Given the description of an element on the screen output the (x, y) to click on. 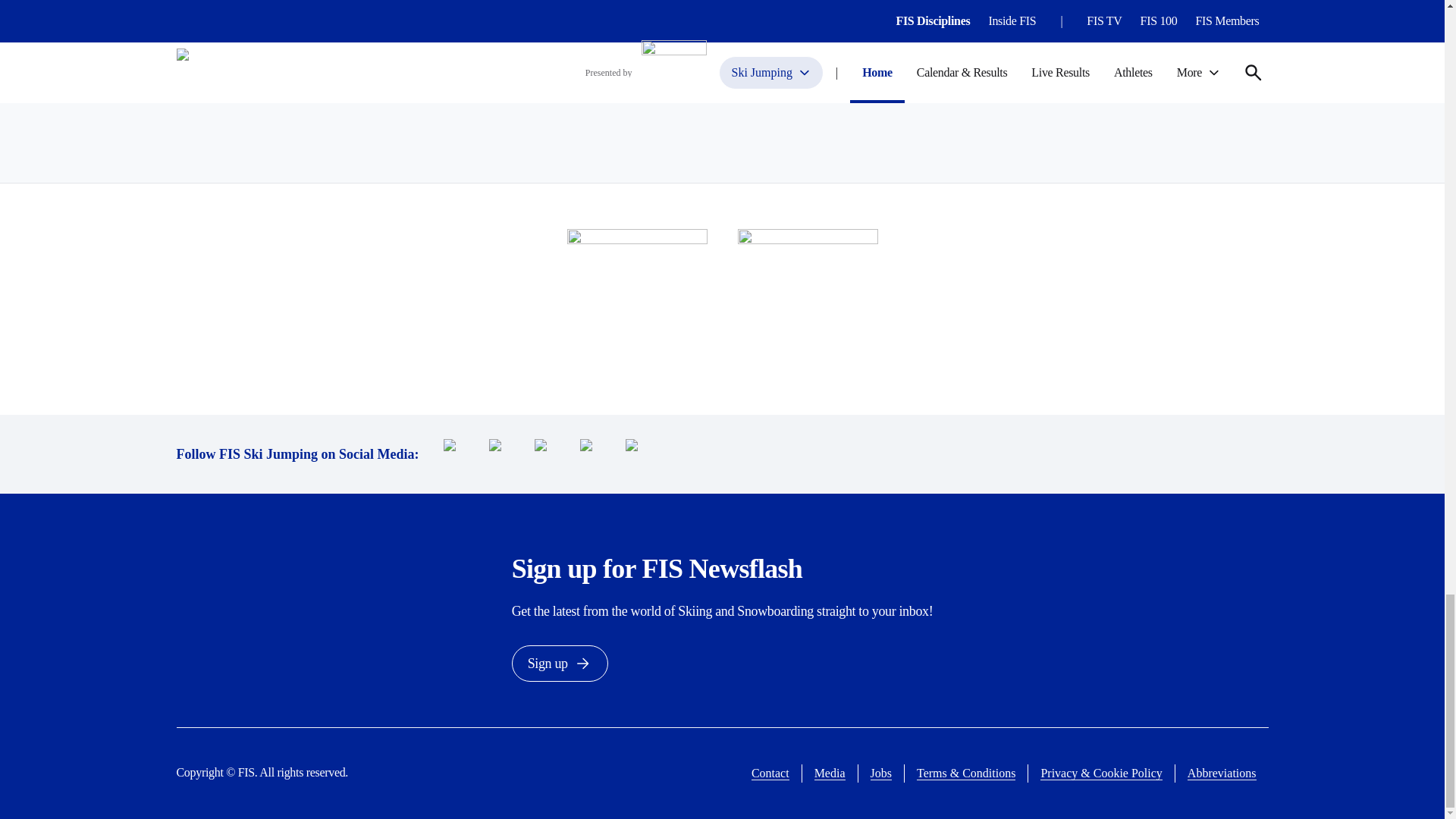
Sign up (560, 663)
Contact (770, 773)
Media (829, 773)
Abbreviations (1222, 773)
Jobs (880, 773)
